Given the description of an element on the screen output the (x, y) to click on. 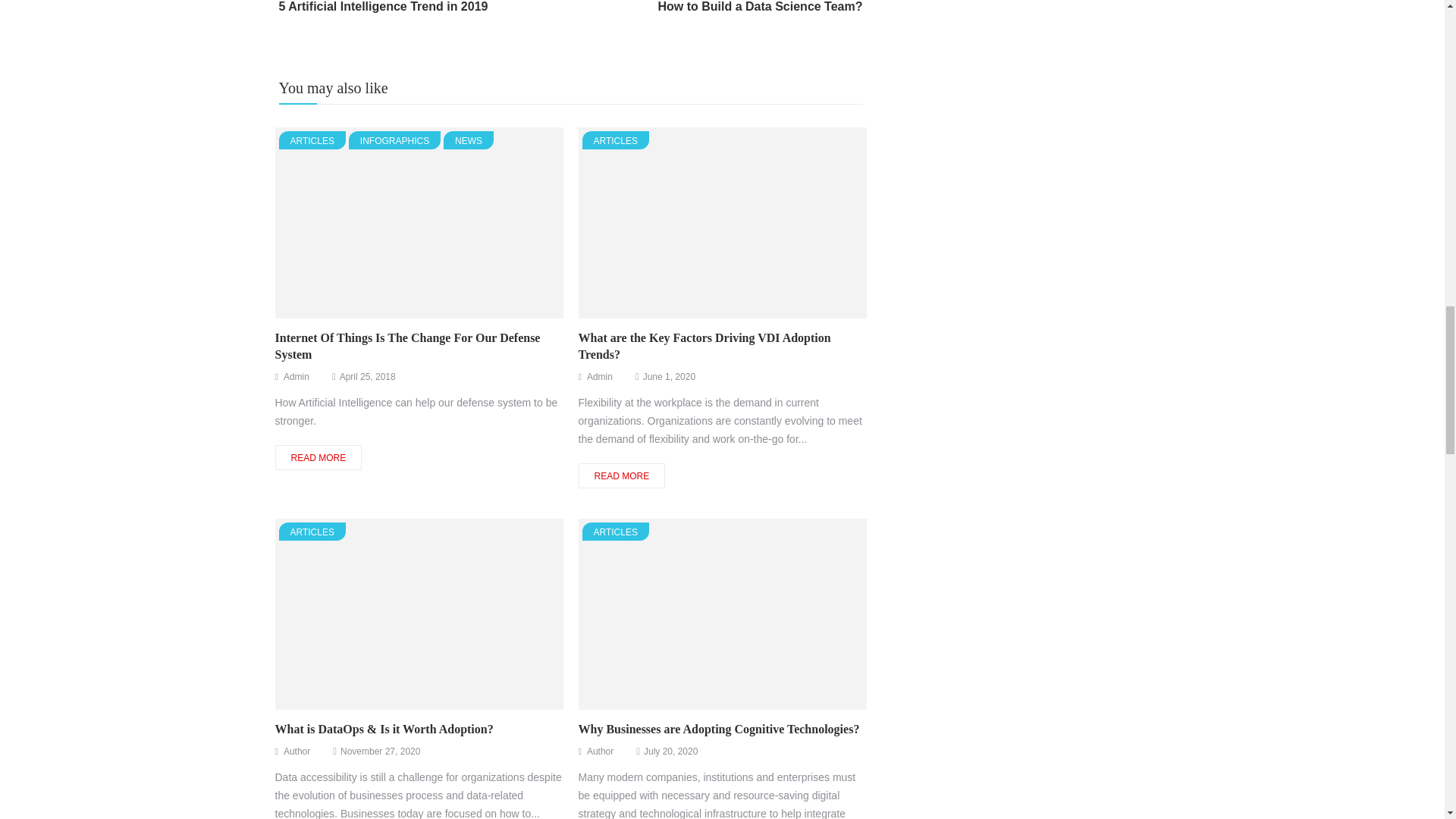
prev post (383, 14)
next post (383, 14)
